Given the description of an element on the screen output the (x, y) to click on. 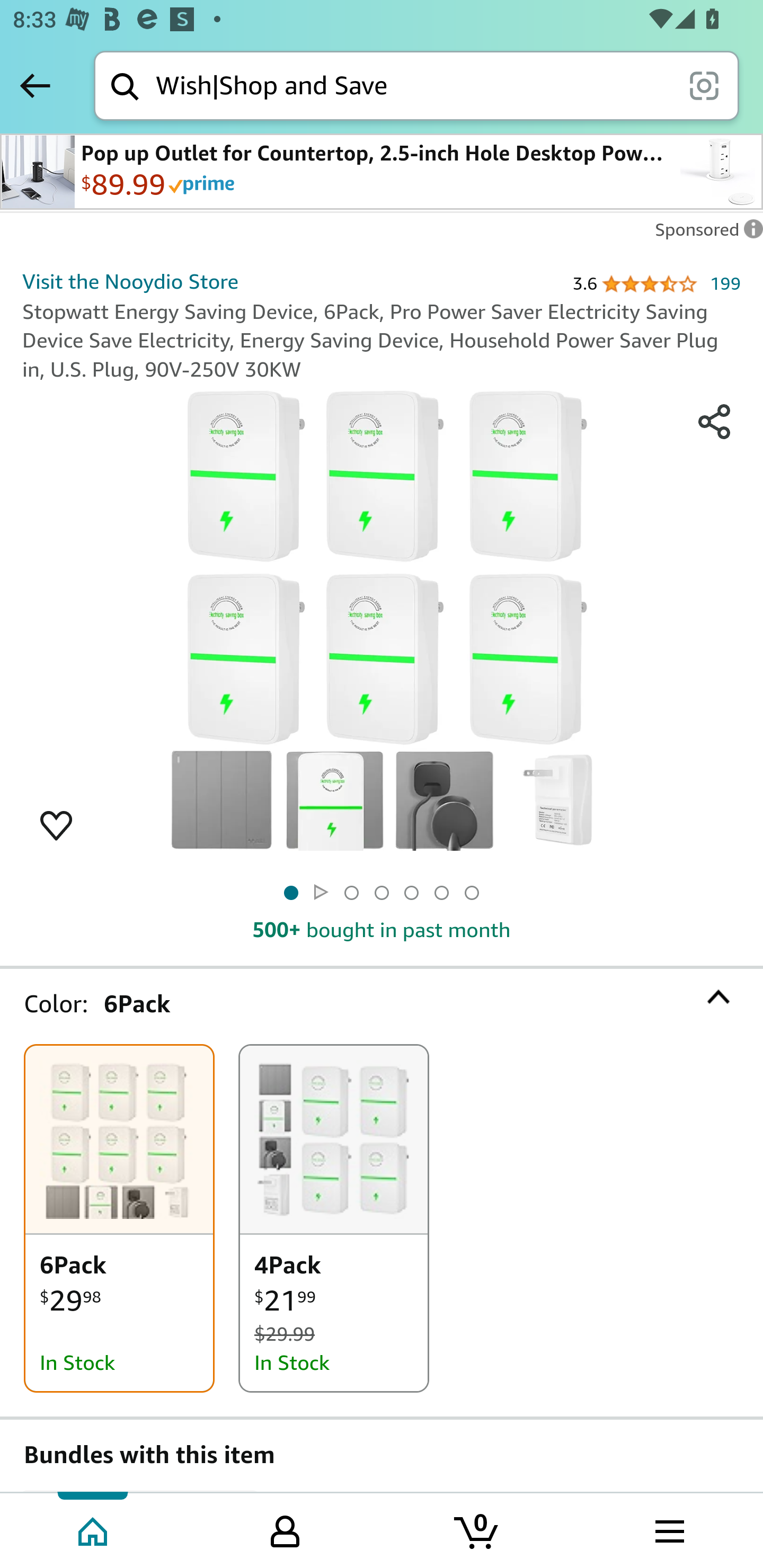
Back (35, 85)
Search Search Wish|Shop and Save scan it (416, 85)
scan it (704, 85)
Leave feedback on Sponsored ad Sponsored  (703, 234)
Visit the Nooydio Store (131, 281)
Heart to save an item to your default list (56, 824)
6Pack $29.98 In Stock (118, 1218)
4Pack $21.99 $29.99 In Stock (333, 1218)
Home Tab 1 of 4 (94, 1529)
Your Amazon.com Tab 2 of 4 (285, 1529)
Cart 0 item Tab 3 of 4 0 (477, 1529)
Browse menu Tab 4 of 4 (668, 1529)
